Given the description of an element on the screen output the (x, y) to click on. 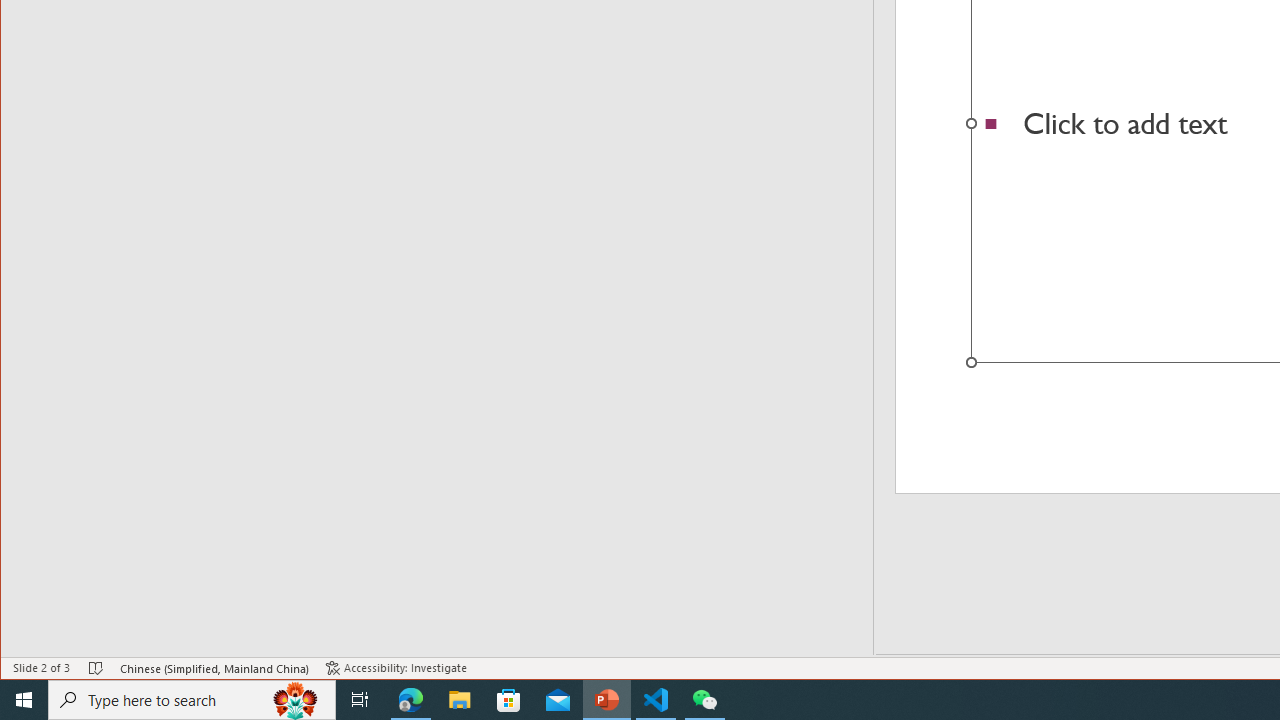
Search highlights icon opens search home window (295, 699)
Microsoft Edge - 1 running window (411, 699)
PowerPoint - 1 running window (607, 699)
File Explorer (460, 699)
Accessibility Checker Accessibility: Investigate (395, 668)
Microsoft Store (509, 699)
Type here to search (191, 699)
WeChat - 1 running window (704, 699)
Task View (359, 699)
Start (24, 699)
Spell Check No Errors (96, 668)
Visual Studio Code - 1 running window (656, 699)
